Given the description of an element on the screen output the (x, y) to click on. 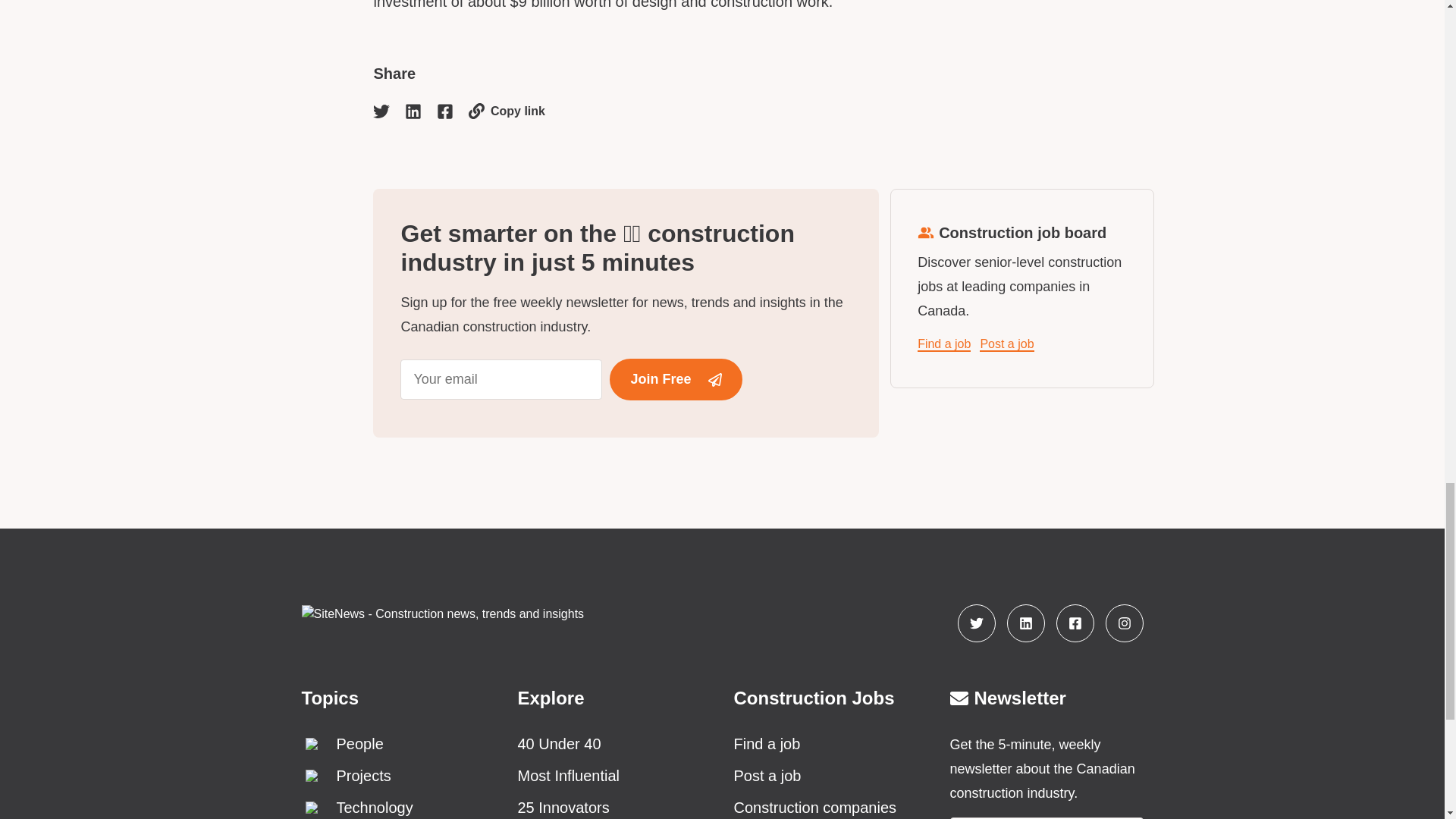
Post a job (1006, 344)
Copy link (506, 110)
Find a job (944, 344)
People (398, 743)
Join Free (675, 379)
Projects (398, 775)
